Given the description of an element on the screen output the (x, y) to click on. 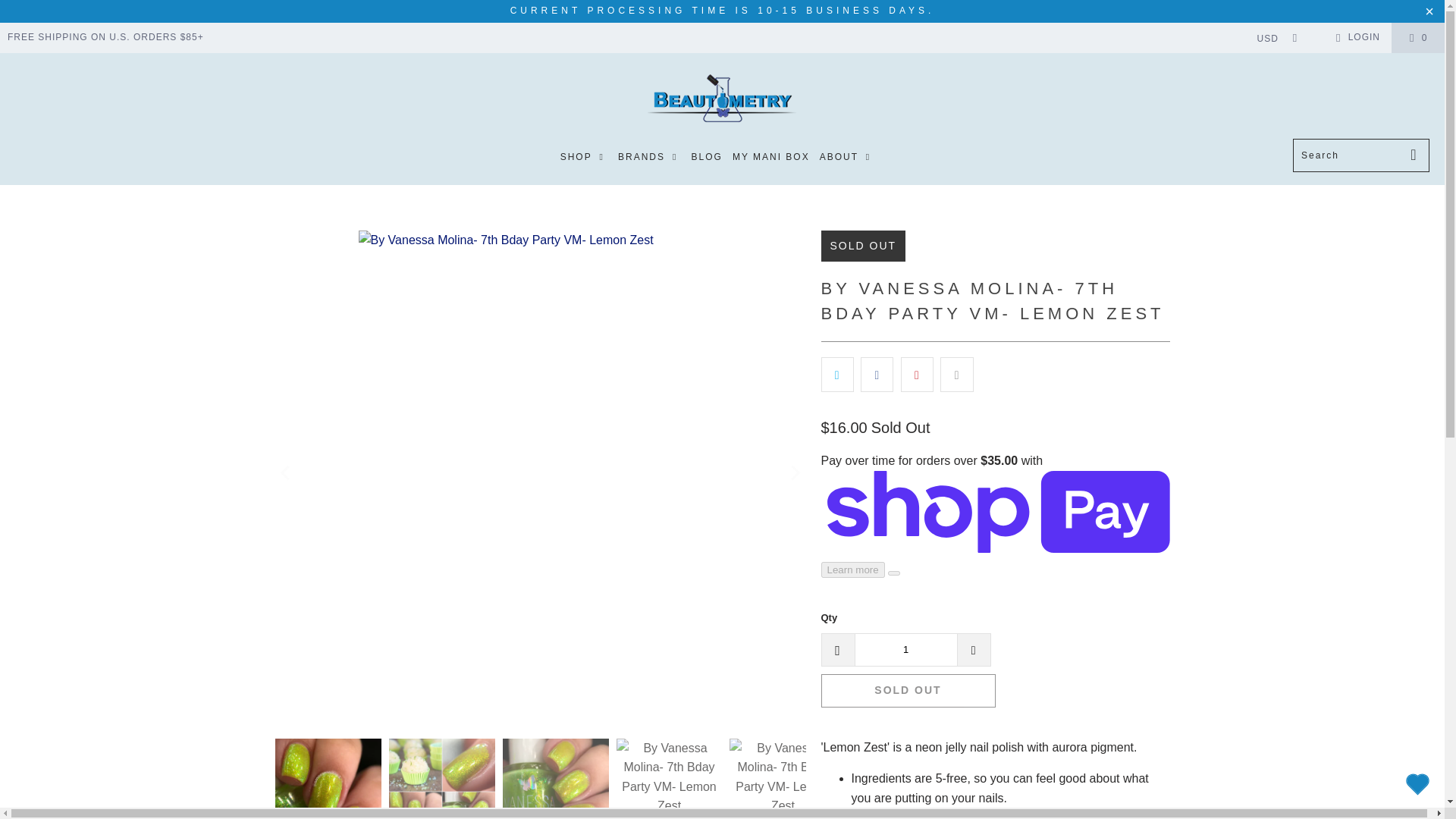
1 (904, 649)
Share this on Facebook (876, 374)
Email this to a friend (956, 374)
Beautometry (721, 99)
Share this on Twitter (837, 374)
My Account  (1355, 37)
Share this on Pinterest (917, 374)
